Given the description of an element on the screen output the (x, y) to click on. 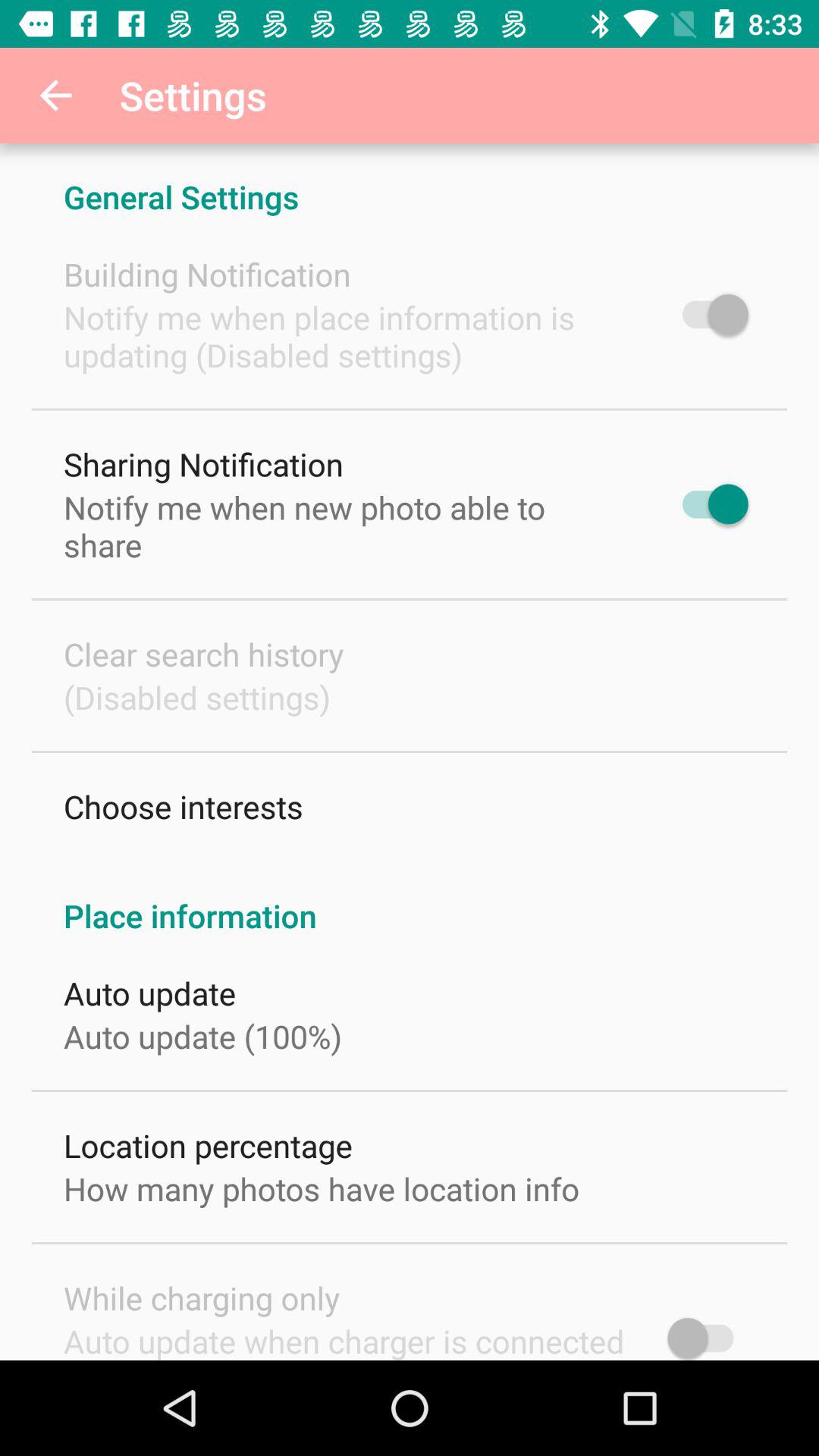
turn on the item below the (disabled settings) (183, 806)
